Given the description of an element on the screen output the (x, y) to click on. 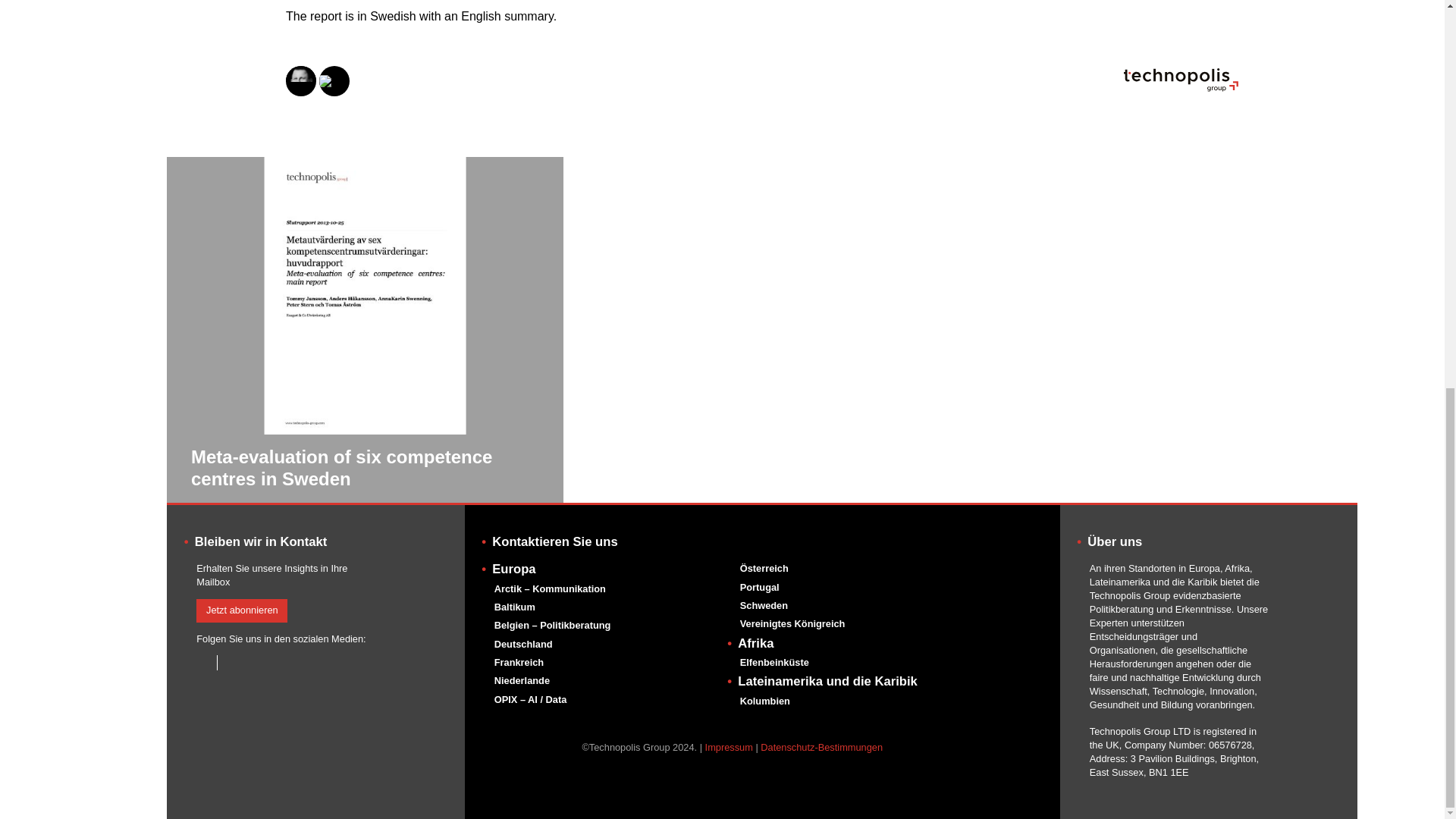
LinkedIn (203, 662)
Twitter (229, 662)
